Given the description of an element on the screen output the (x, y) to click on. 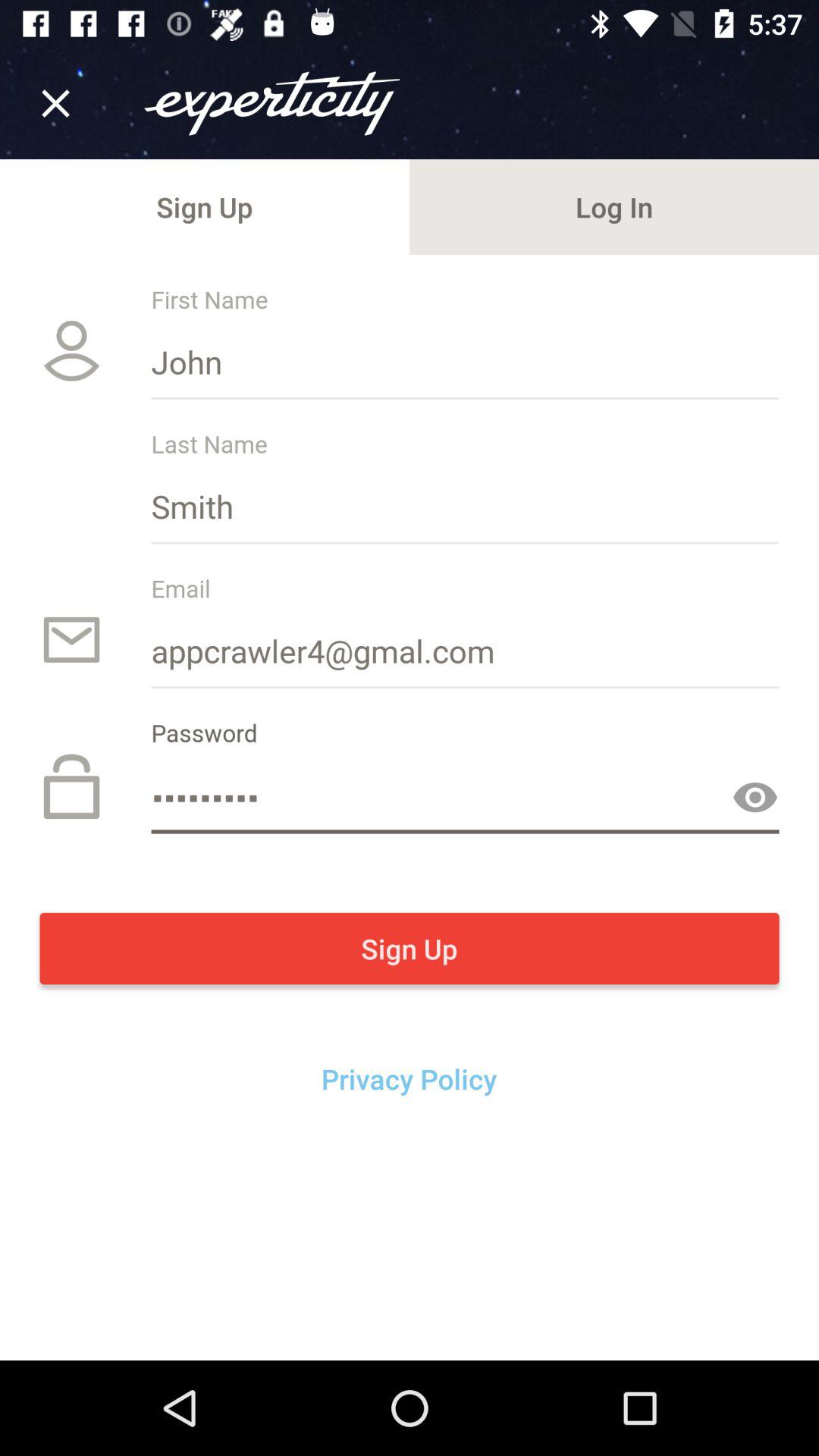
the button is used to show your password (755, 797)
